Given the description of an element on the screen output the (x, y) to click on. 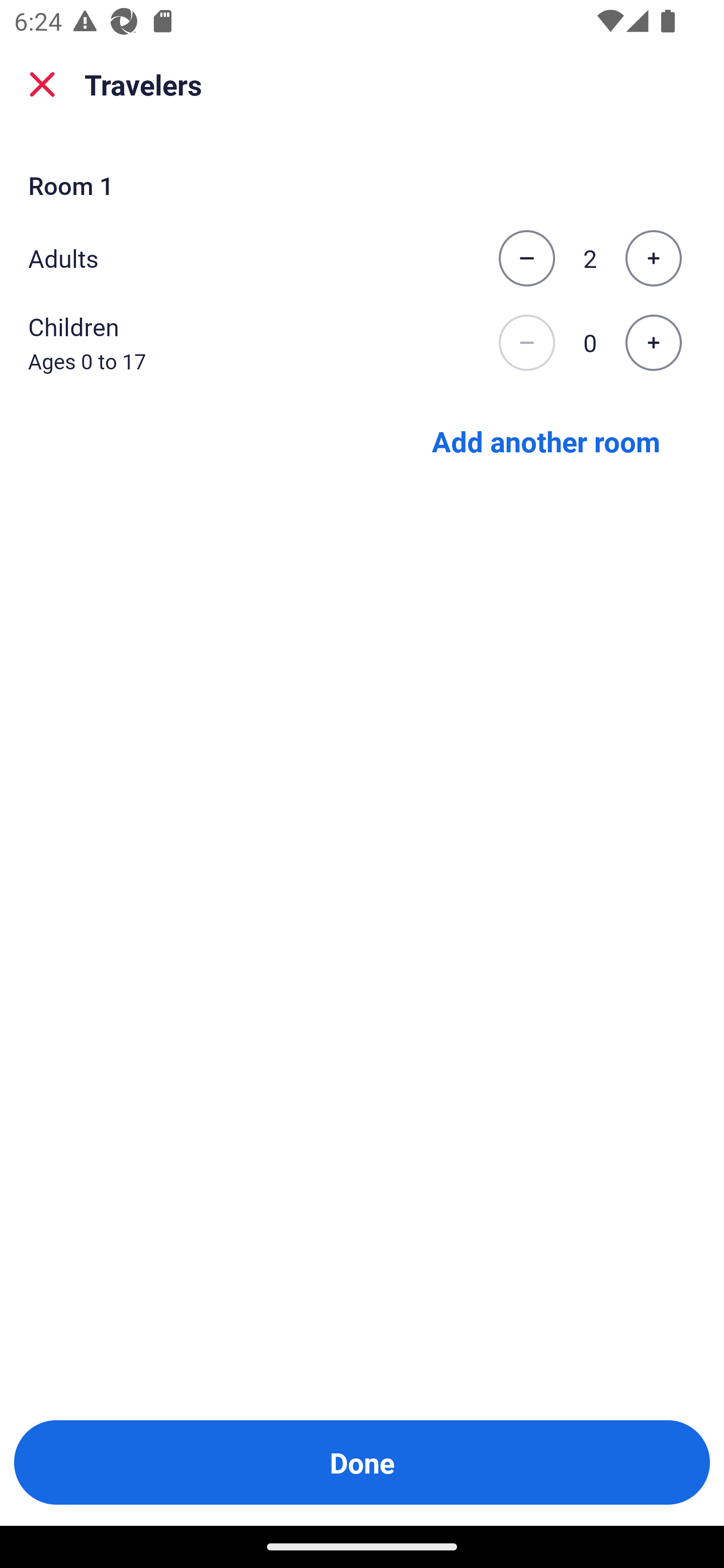
close (42, 84)
Decrease the number of adults (526, 258)
Increase the number of adults (653, 258)
Decrease the number of children (526, 343)
Increase the number of children (653, 343)
Add another room (545, 440)
Done (361, 1462)
